Given the description of an element on the screen output the (x, y) to click on. 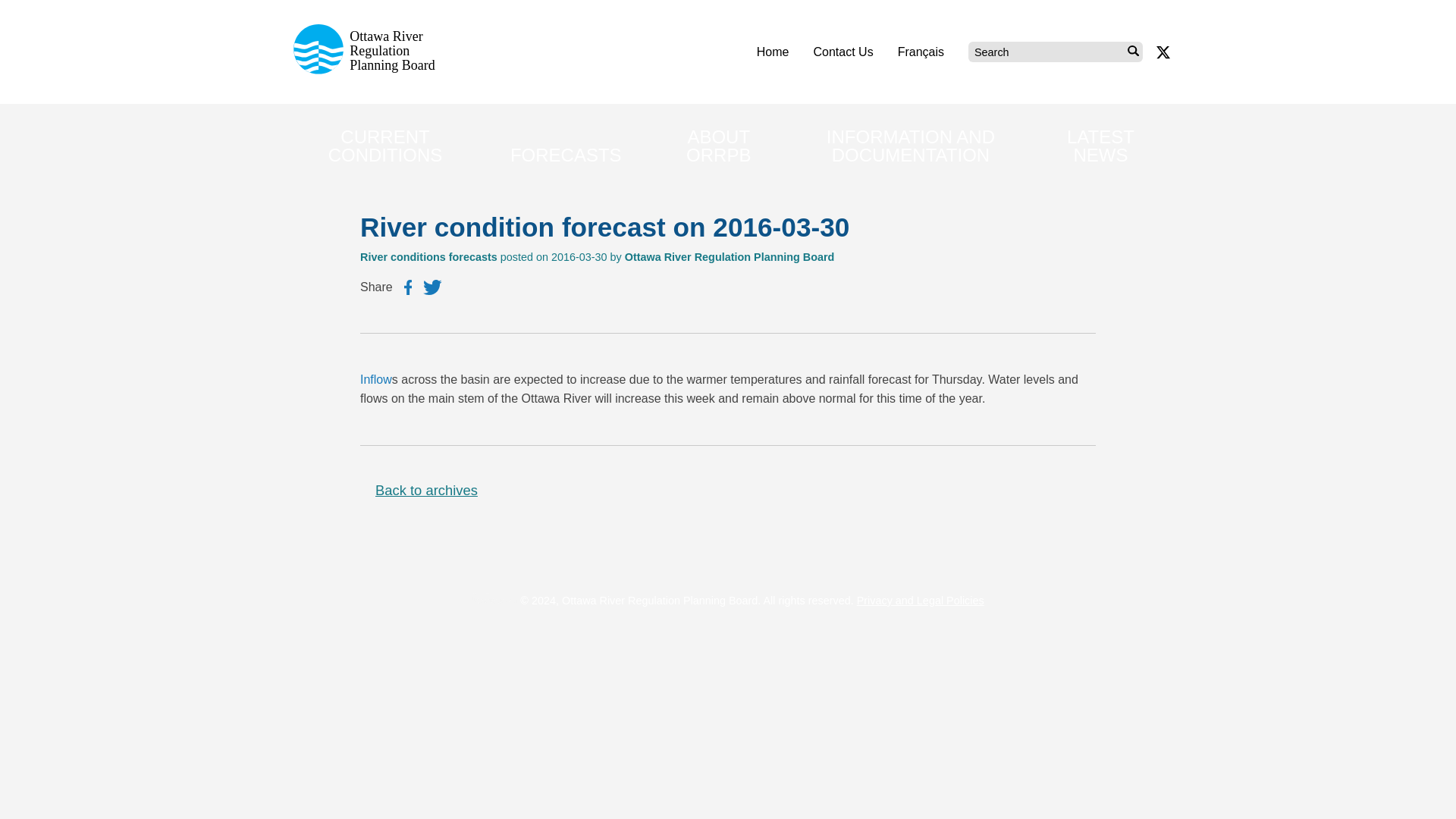
Contact Us (842, 51)
Twitter (432, 287)
CURRENT CONDITIONS (385, 145)
Ottawa River Regulation Planning Board (368, 69)
Home (773, 51)
